Given the description of an element on the screen output the (x, y) to click on. 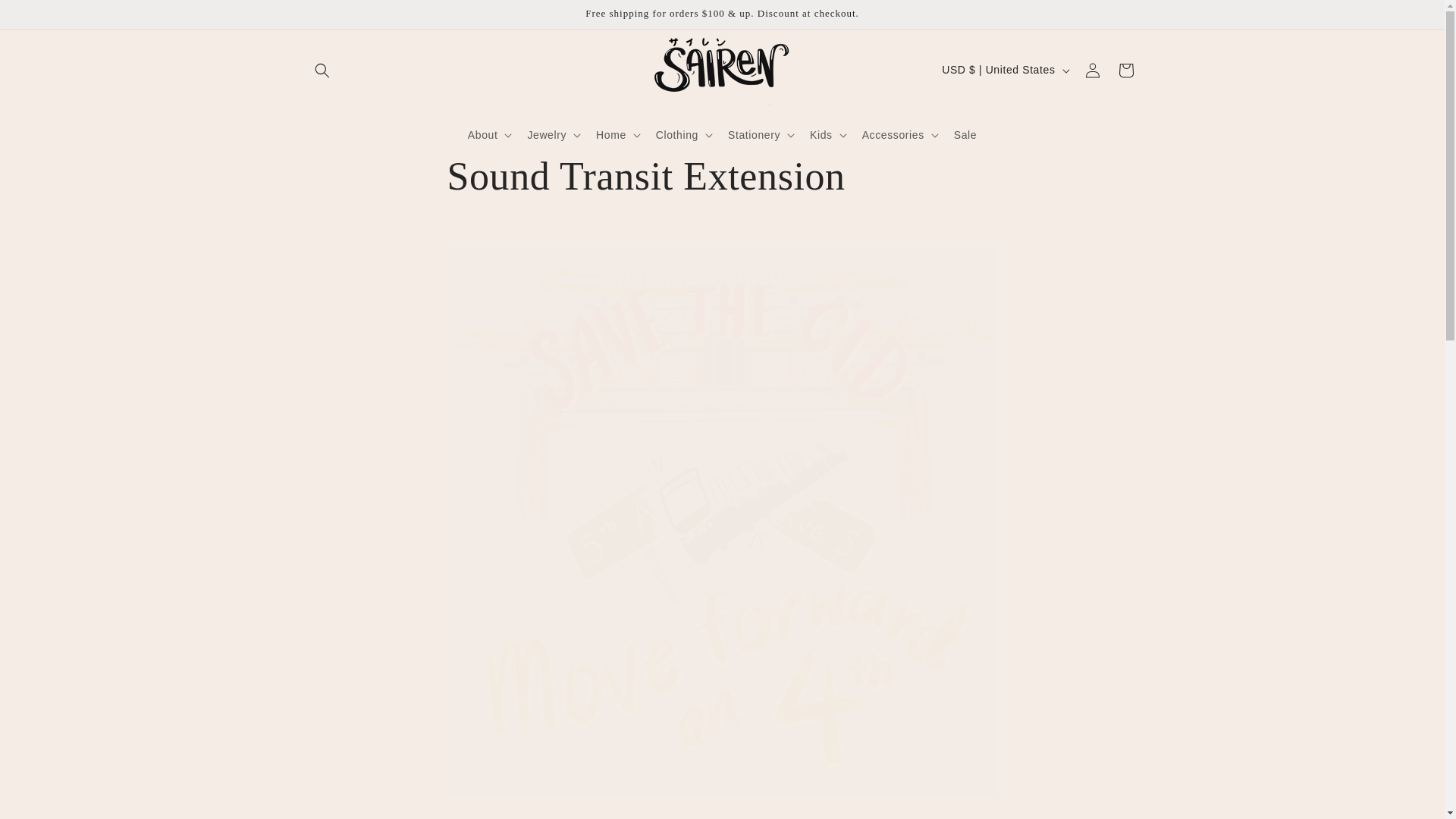
Skip to content (45, 17)
Sound Transit Extension (721, 176)
